Given the description of an element on the screen output the (x, y) to click on. 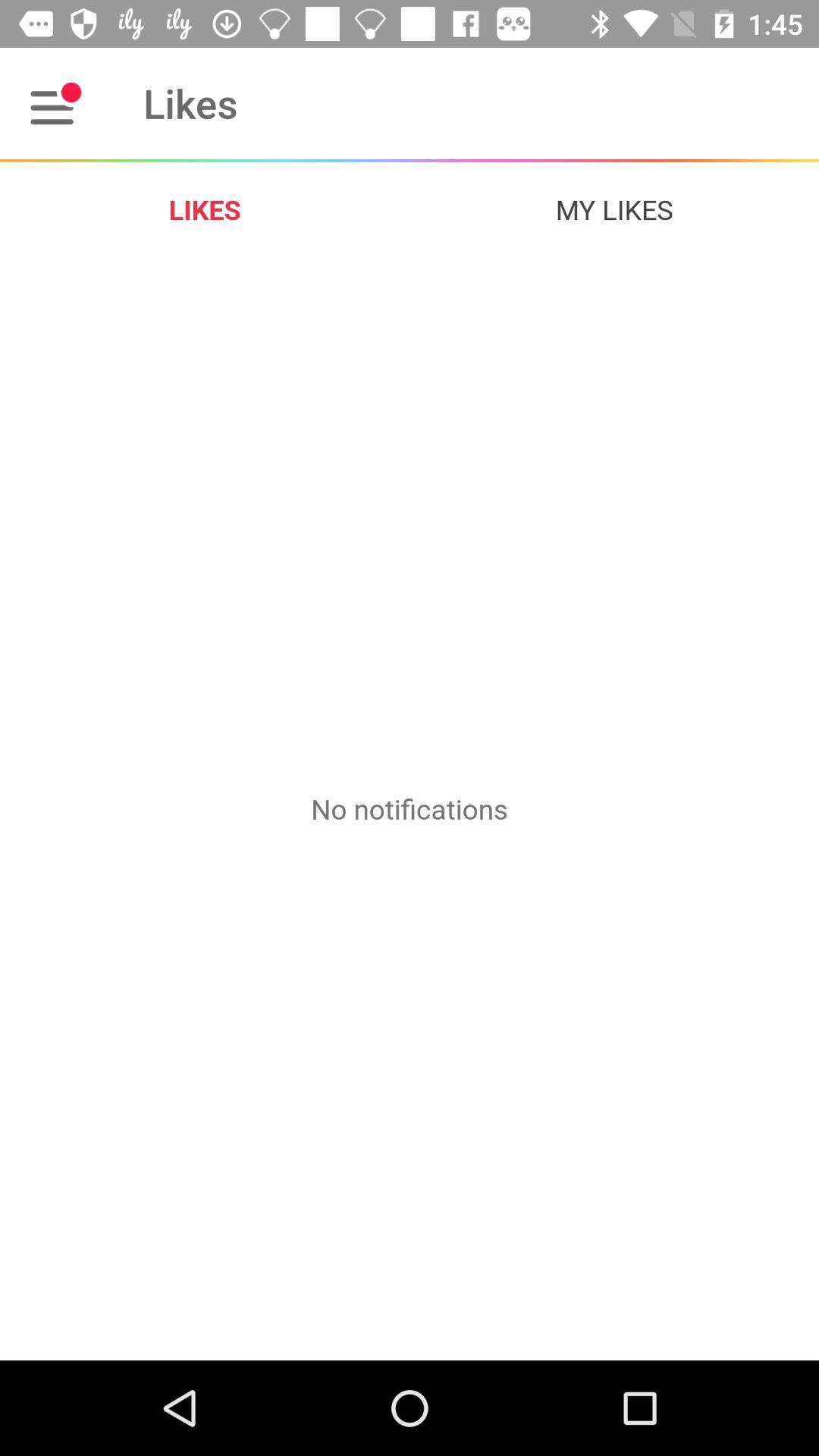
see your profile (55, 103)
